Given the description of an element on the screen output the (x, y) to click on. 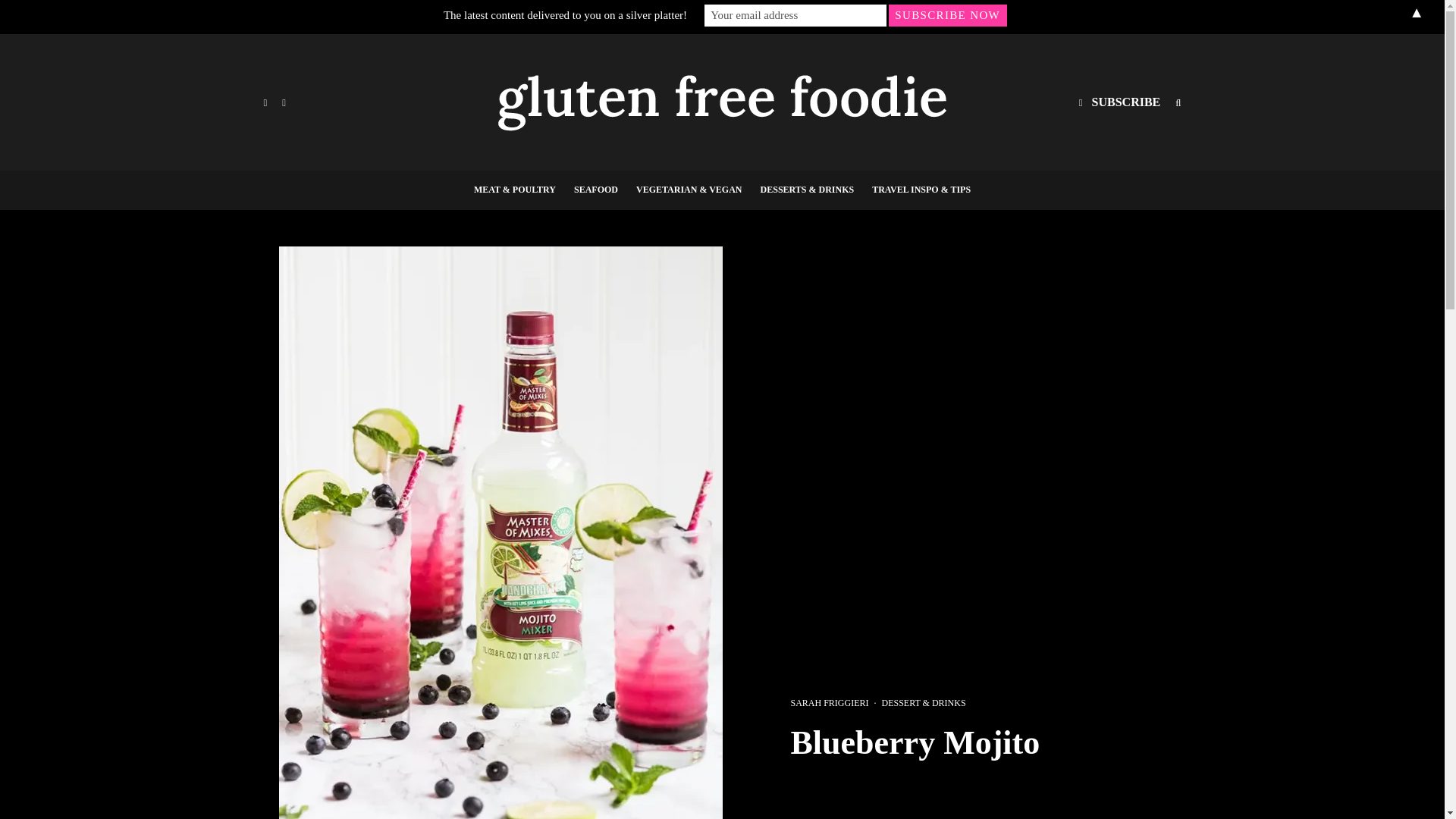
SARAH FRIGGIERI (828, 702)
SUBSCRIBE (1119, 102)
Subscribe now (947, 15)
SEAFOOD (595, 189)
